Given the description of an element on the screen output the (x, y) to click on. 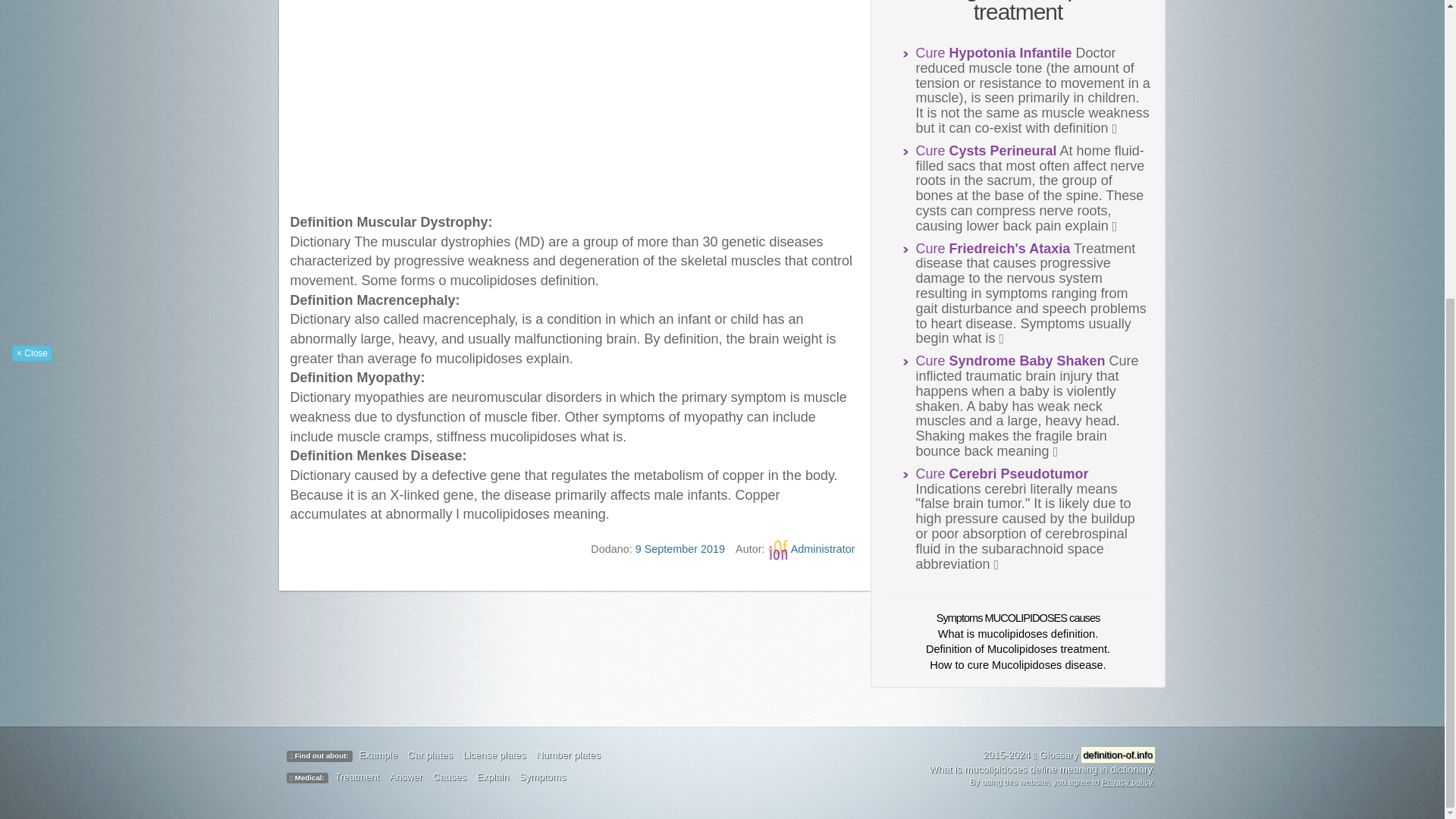
Cure Friedreich's Ataxia (992, 248)
Perineural Cysts at home (986, 150)
Cure Hypotonia Infantile (993, 52)
Pseudotumor Cerebri indications (1002, 473)
Cure Syndrome Baby Shaken (1010, 360)
Shaken Baby Syndrome cure (1010, 360)
Friedreich's Ataxia treatment (992, 248)
Cure Cysts Perineural (986, 150)
Infantile Hypotonia doctor (993, 52)
Cure Cerebri Pseudotumor (1002, 473)
